Given the description of an element on the screen output the (x, y) to click on. 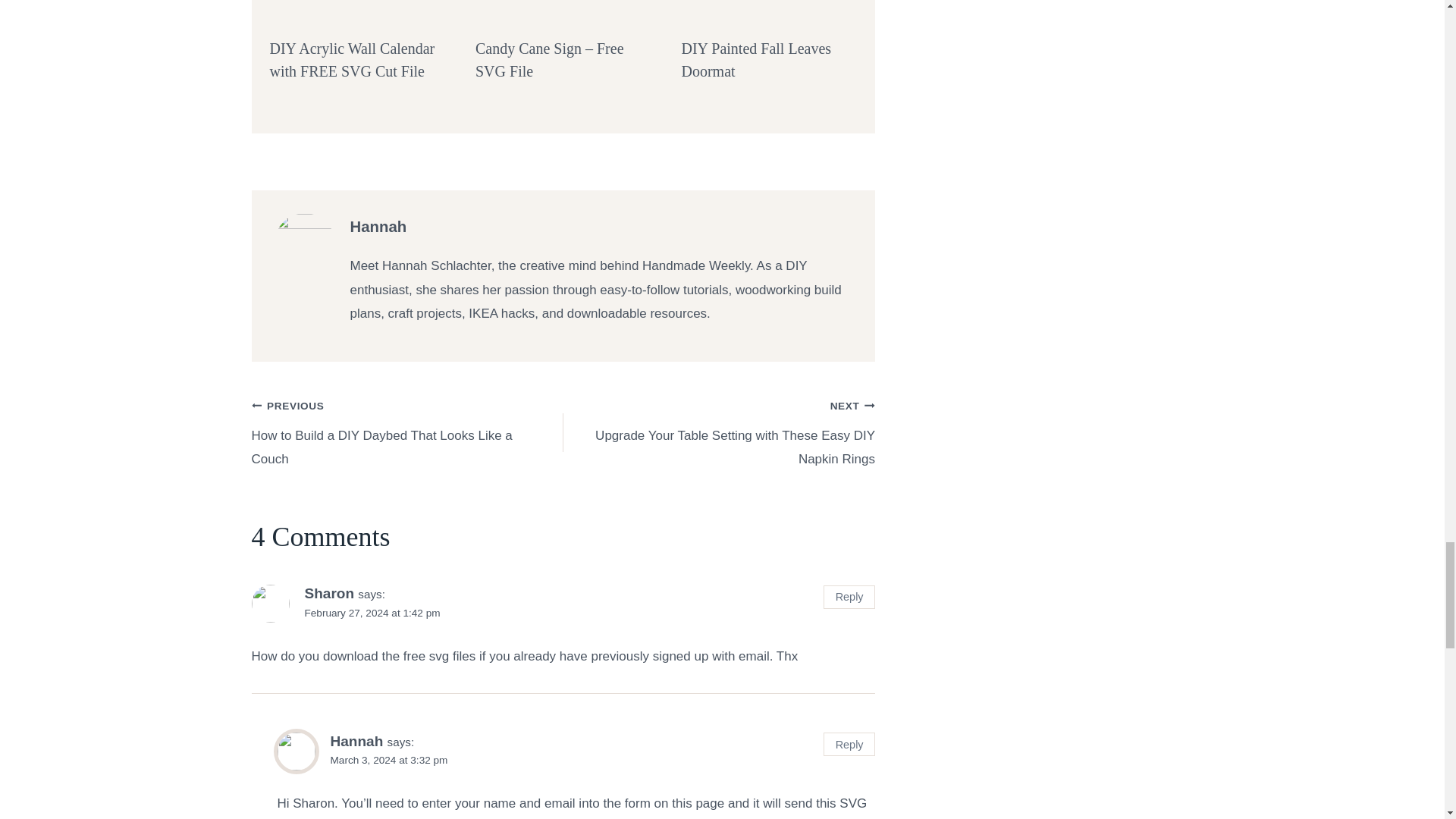
Posts by Hannah (378, 226)
